Given the description of an element on the screen output the (x, y) to click on. 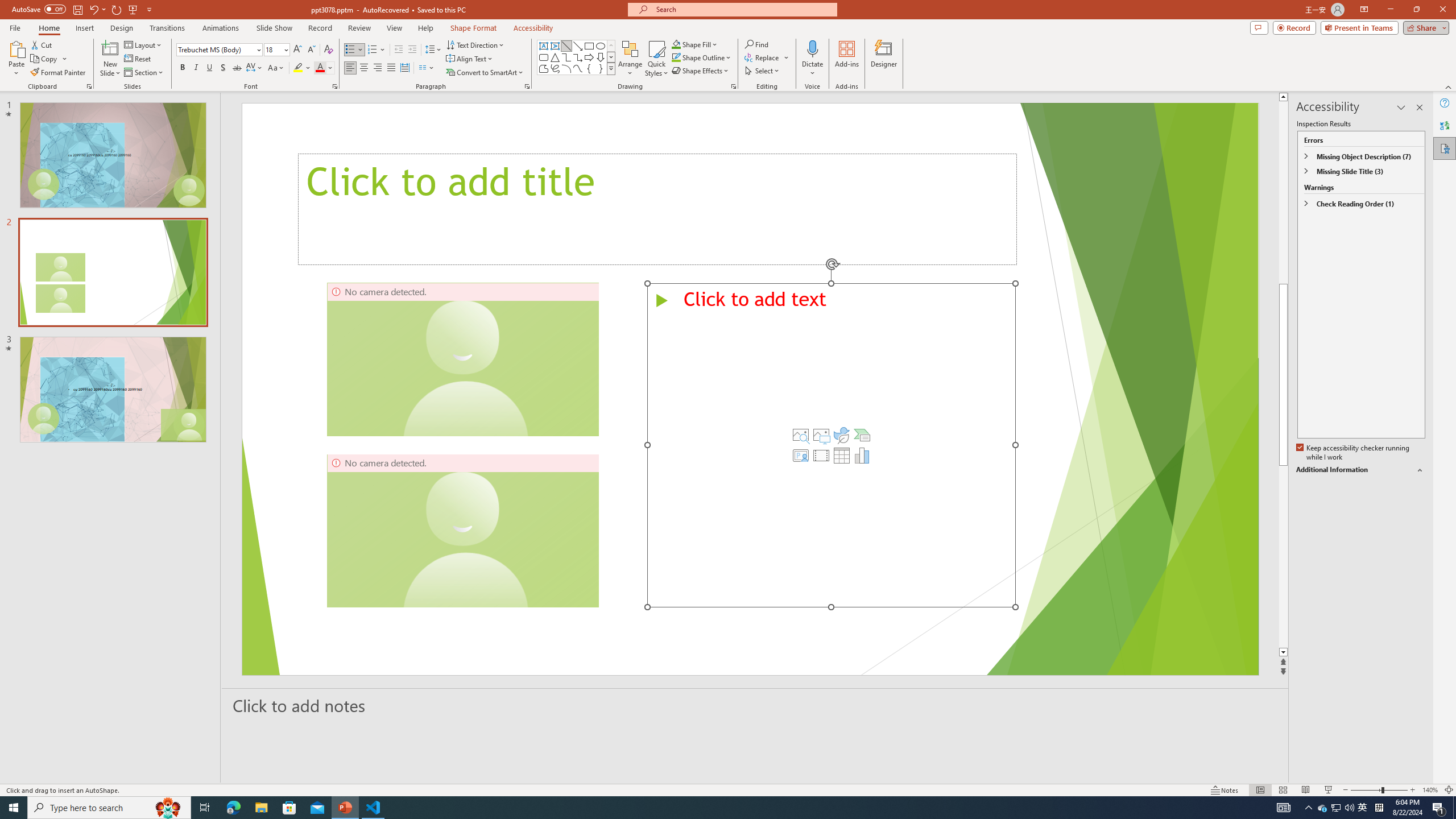
Zoom 140% (1430, 790)
